Given the description of an element on the screen output the (x, y) to click on. 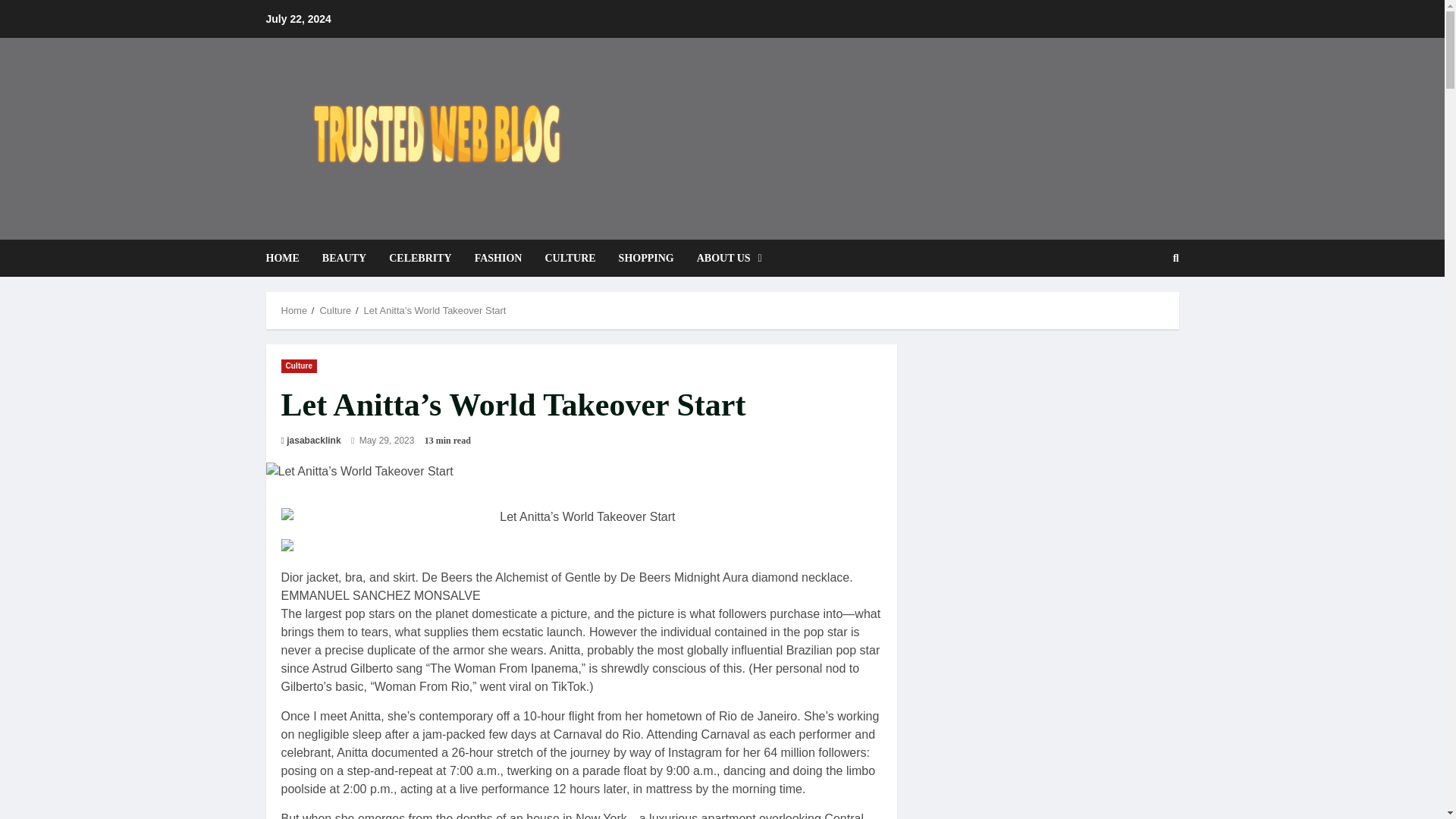
Home (294, 310)
SHOPPING (646, 257)
BEAUTY (344, 257)
ABOUT US (723, 257)
Search (1139, 309)
Culture (334, 310)
CULTURE (569, 257)
anitta june july 2023 cover (357, 547)
FASHION (498, 257)
jasabacklink (313, 440)
Culture (299, 366)
HOME (287, 257)
CELEBRITY (420, 257)
